Given the description of an element on the screen output the (x, y) to click on. 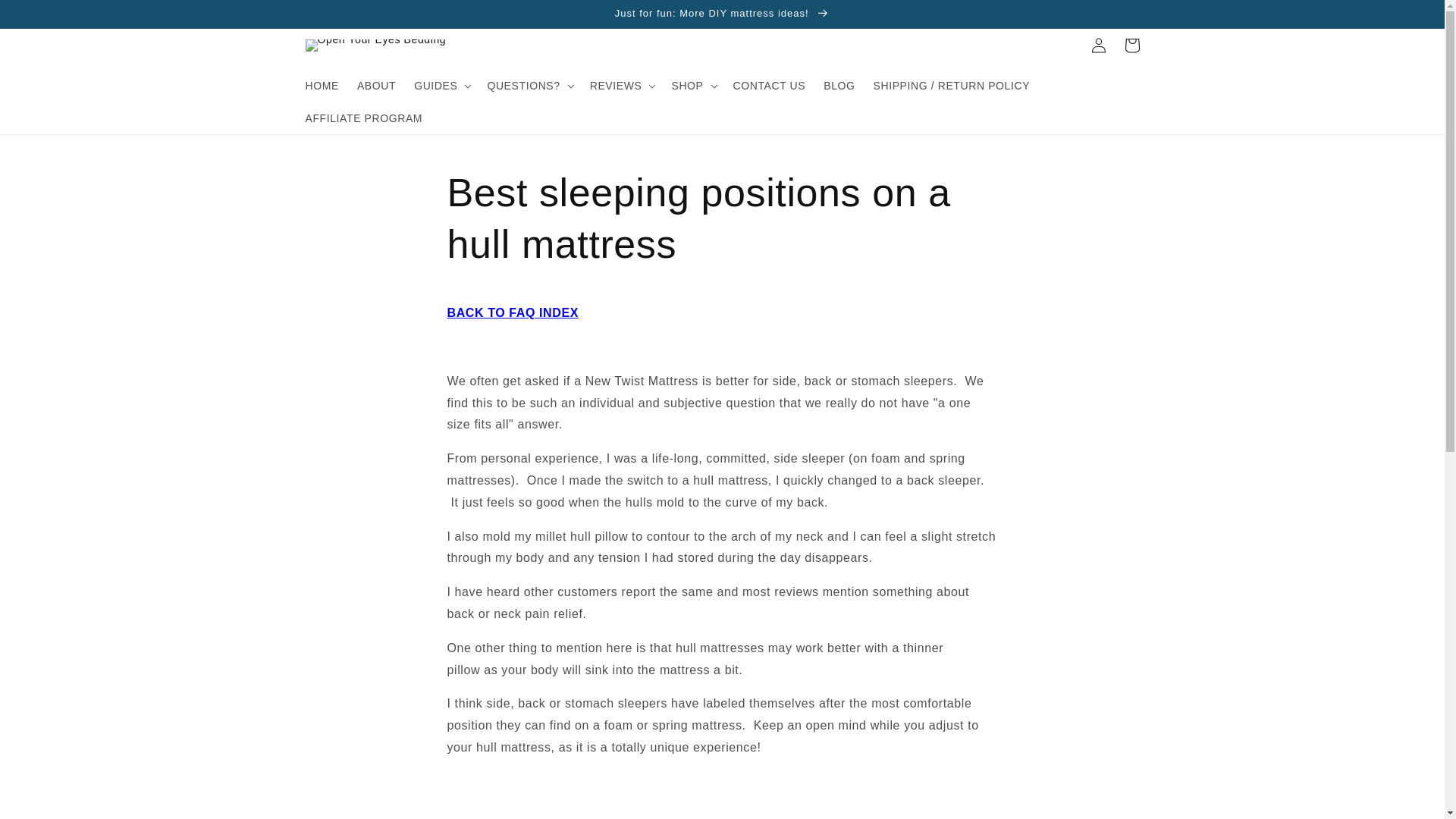
HOME (321, 85)
ABOUT (375, 85)
Skip to content (45, 17)
